Given the description of an element on the screen output the (x, y) to click on. 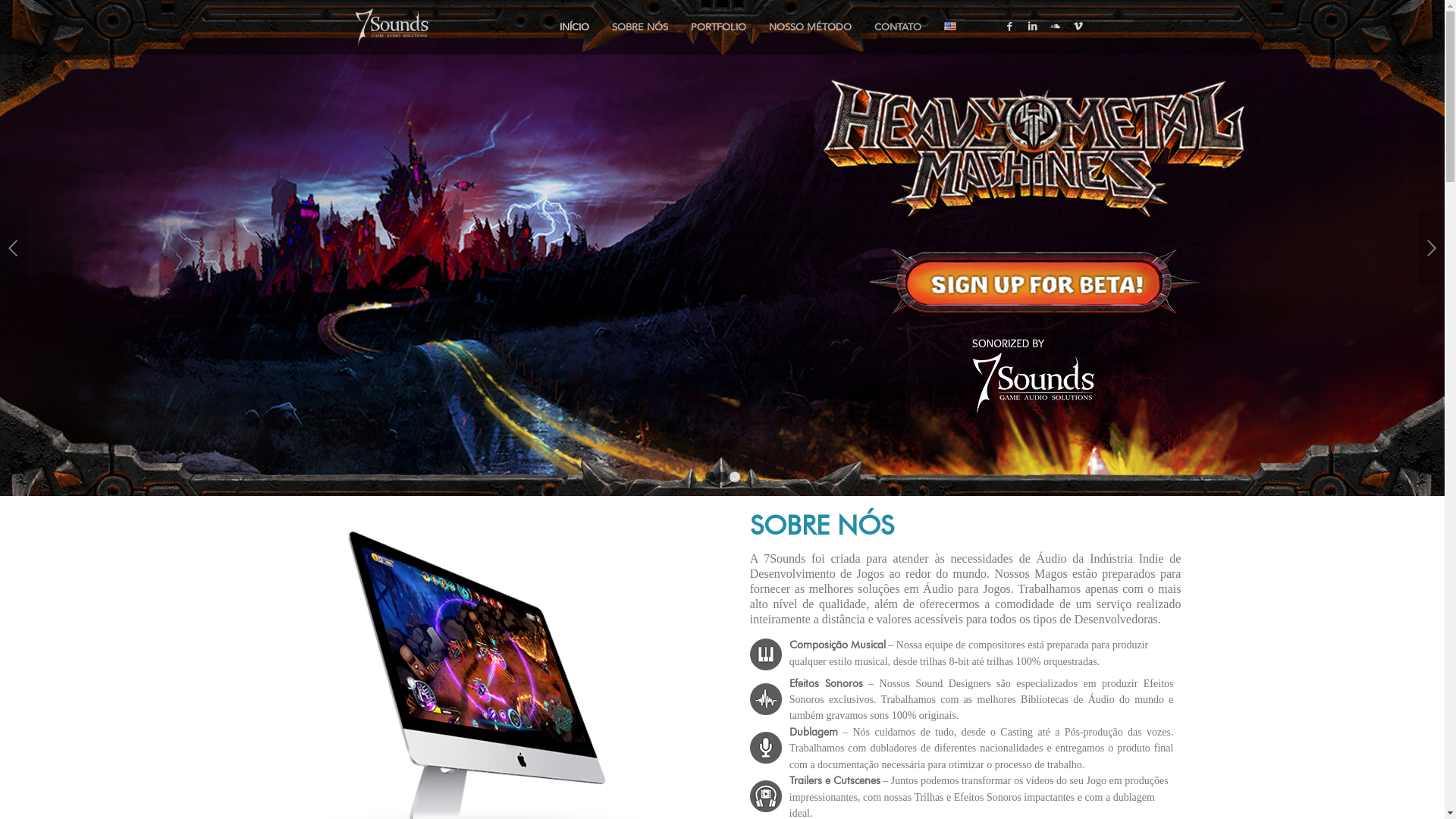
Anterior Element type: text (13, 247)
3 Element type: text (734, 476)
2 Element type: text (722, 476)
1 Element type: text (710, 476)
PORTFOLIO Element type: text (718, 26)
CONTATO Element type: text (897, 26)
